Given the description of an element on the screen output the (x, y) to click on. 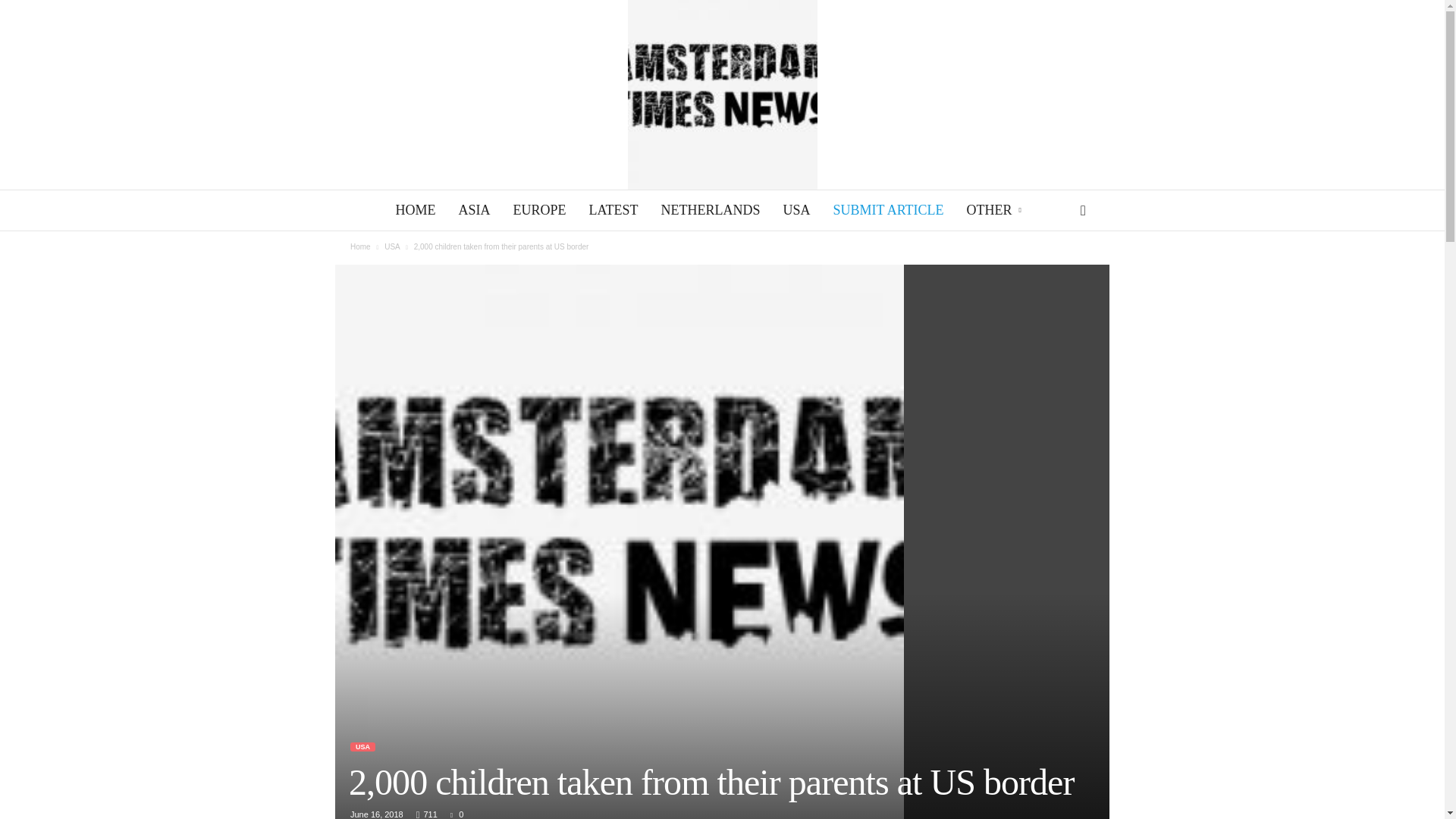
SUBMIT ARTICLE (888, 210)
USA (796, 210)
OTHER (995, 210)
LATEST (612, 210)
HOME (415, 210)
View all posts in USA (391, 246)
ASIA (473, 210)
NETHERLANDS (710, 210)
EUROPE (538, 210)
